Given the description of an element on the screen output the (x, y) to click on. 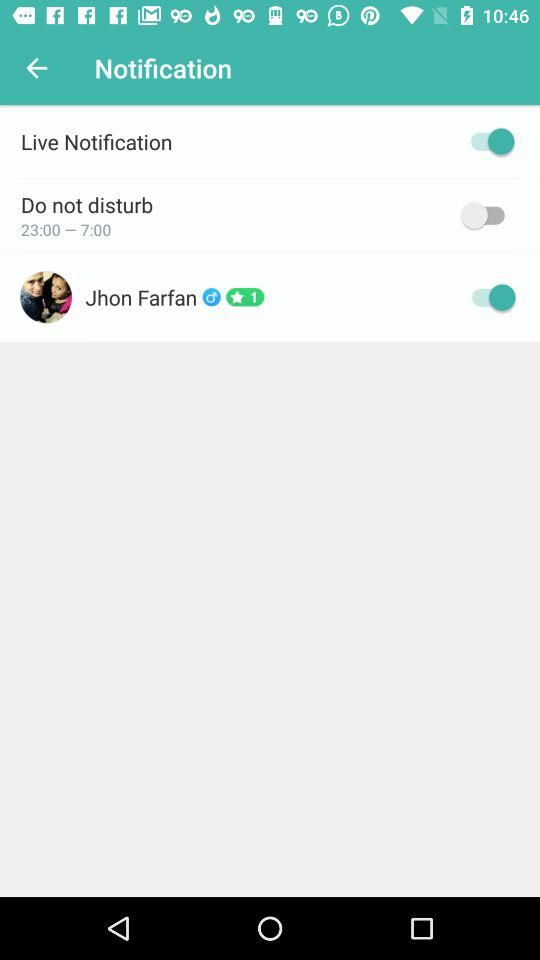
tap icon next to the notification icon (36, 68)
